Given the description of an element on the screen output the (x, y) to click on. 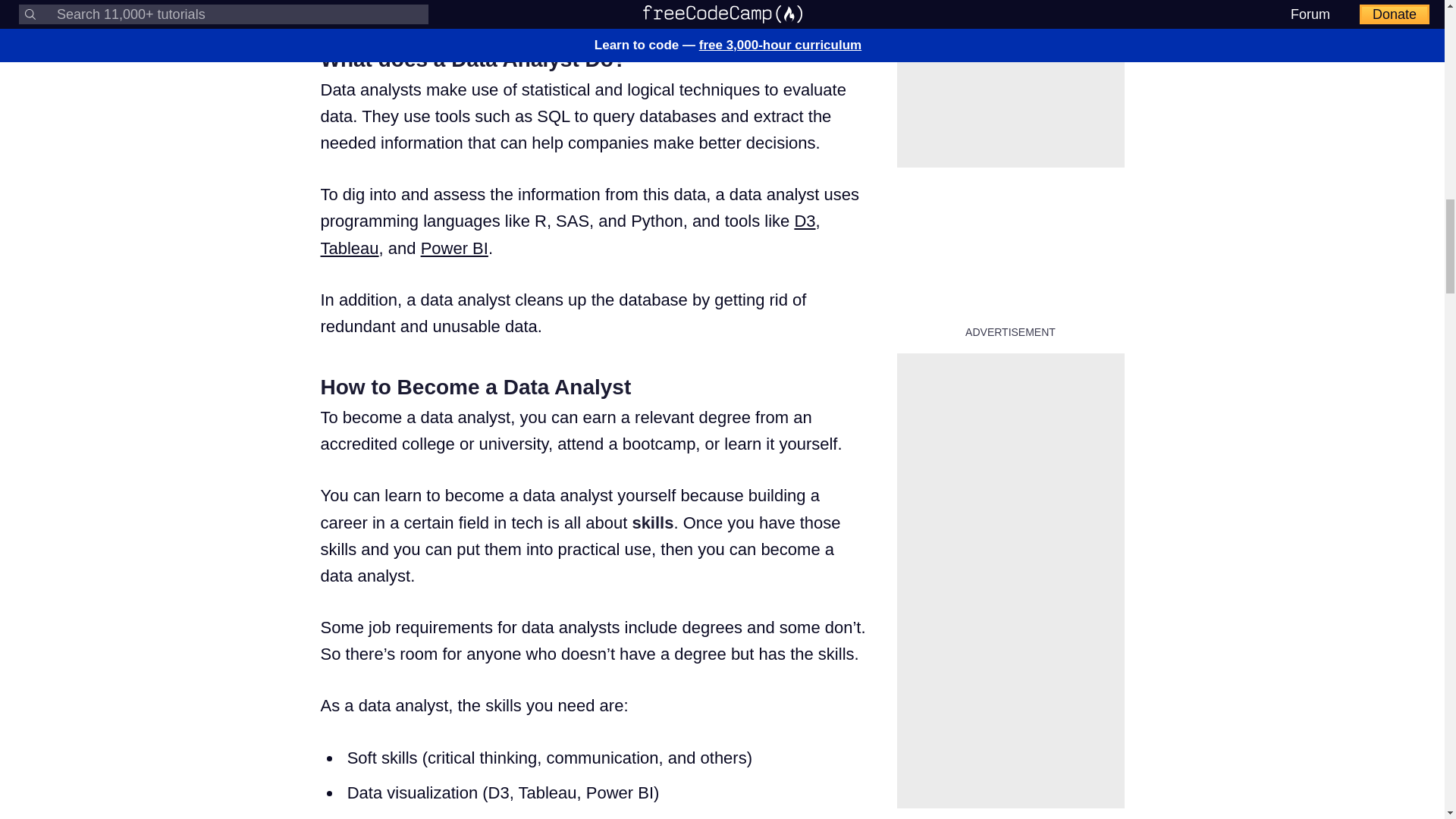
Power BI (453, 248)
D3 (804, 220)
Tableau (349, 248)
